Given the description of an element on the screen output the (x, y) to click on. 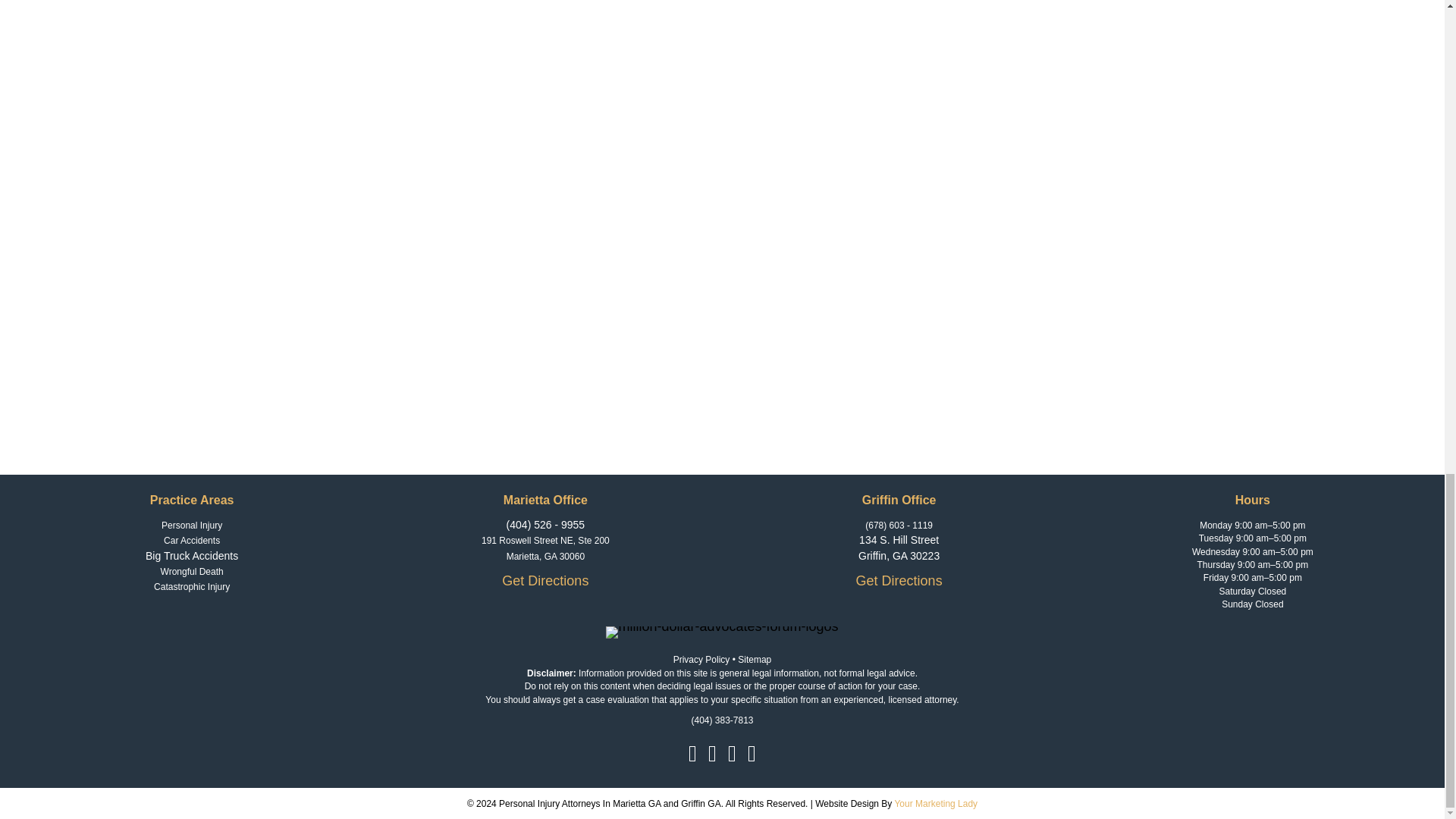
million-dollar-advocates-forum-logos (721, 632)
Your Marketing Lady Websites (933, 803)
